Given the description of an element on the screen output the (x, y) to click on. 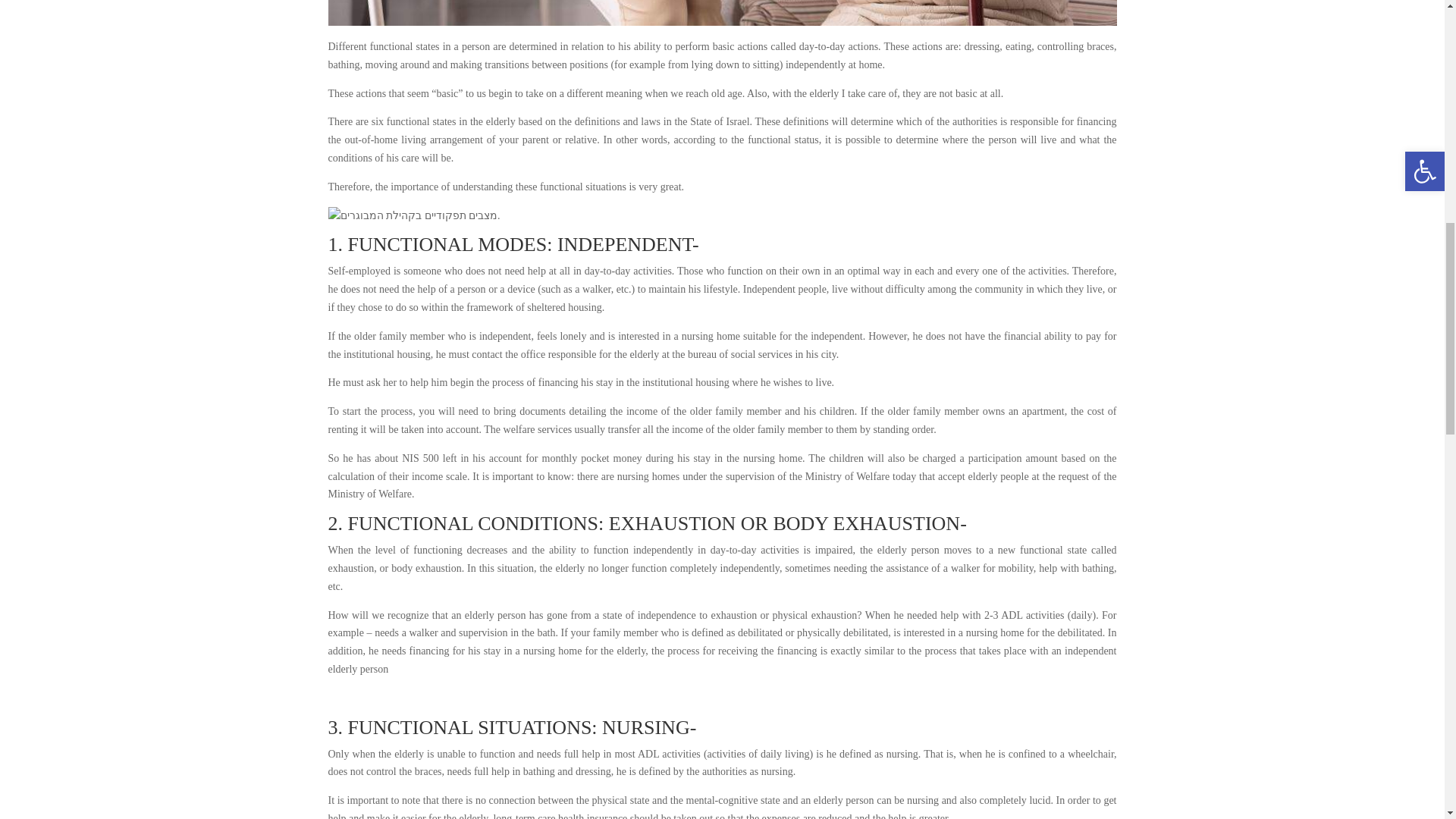
post10 (721, 13)
